Given the description of an element on the screen output the (x, y) to click on. 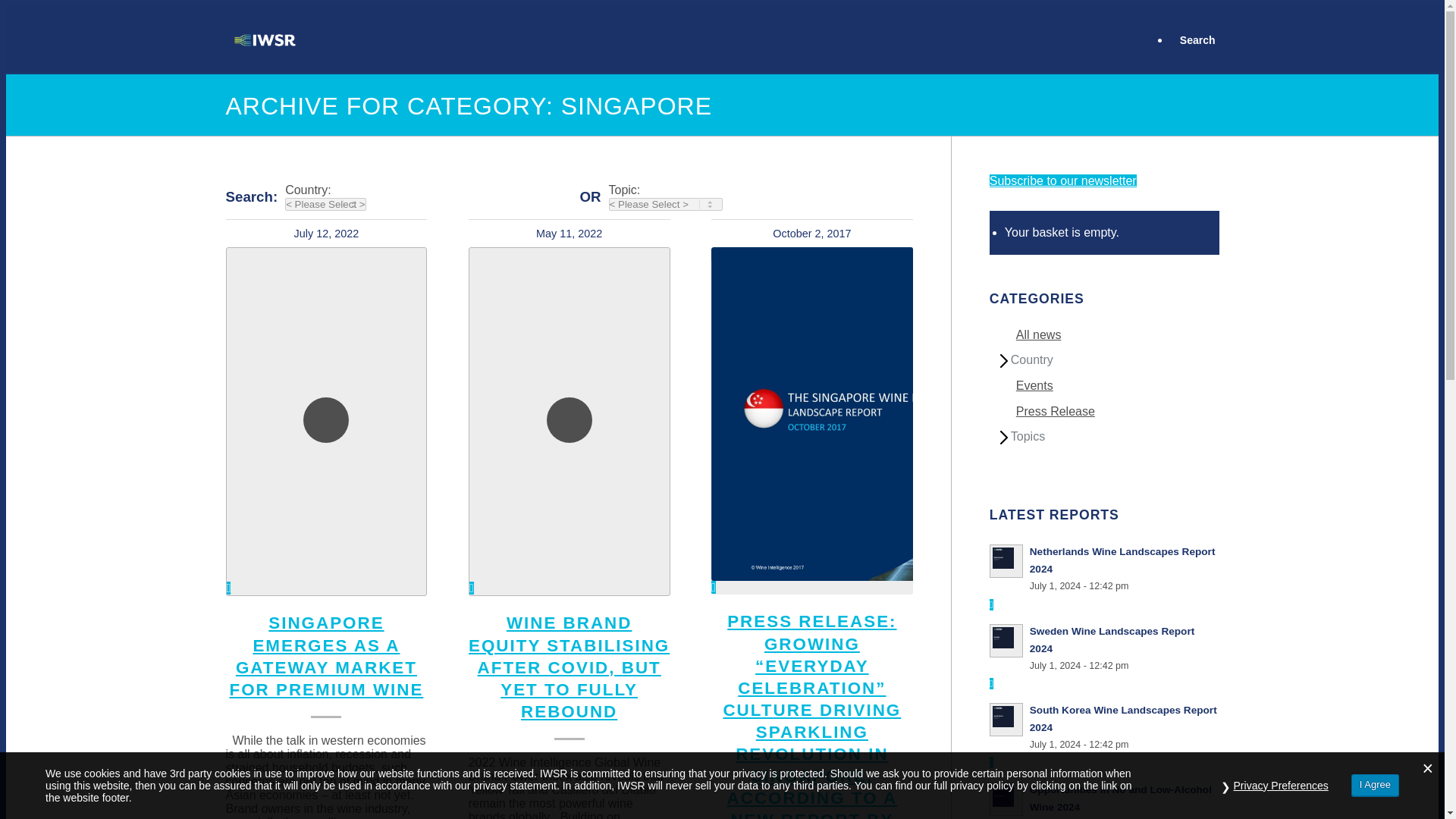
SINGAPORE EMERGES AS A GATEWAY MARKET FOR PREMIUM WINE (325, 655)
View all posts in All news (1038, 335)
Singapore emerges as a gateway market for premium wine (325, 655)
Subscribe to our newsletter (1063, 180)
All news (1038, 335)
